Given the description of an element on the screen output the (x, y) to click on. 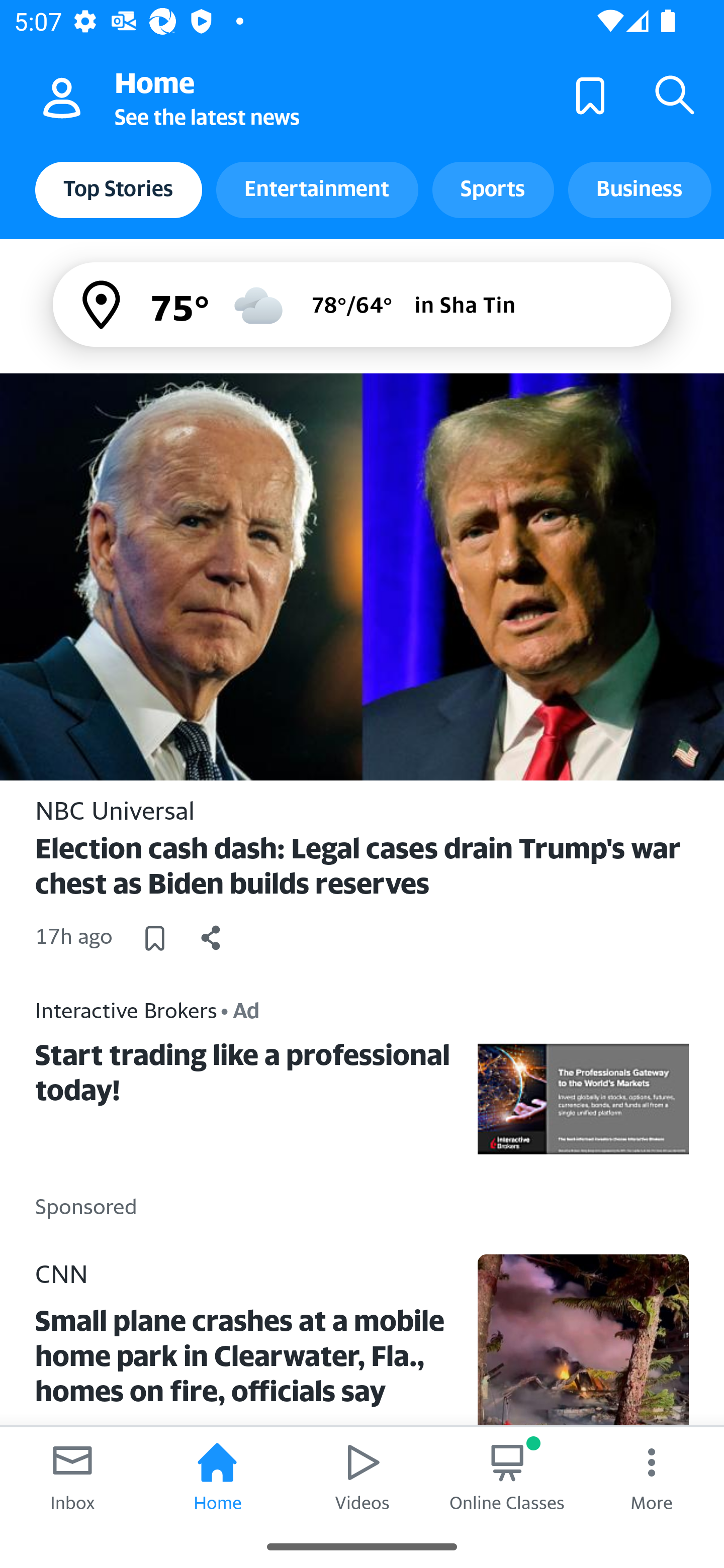
Access your saved articles (590, 94)
Search (674, 94)
Entertainment (317, 189)
Sports (492, 189)
Business (639, 189)
allow accurate location 75° 78°/64° in Sha Tin (361, 303)
allow accurate location (102, 304)
Save this article (154, 937)
Share this news article (210, 937)
• Ad (240, 1009)
Inbox (72, 1475)
Home (216, 1475)
Videos (361, 1475)
Online Classes (506, 1475)
More (651, 1475)
